Given the description of an element on the screen output the (x, y) to click on. 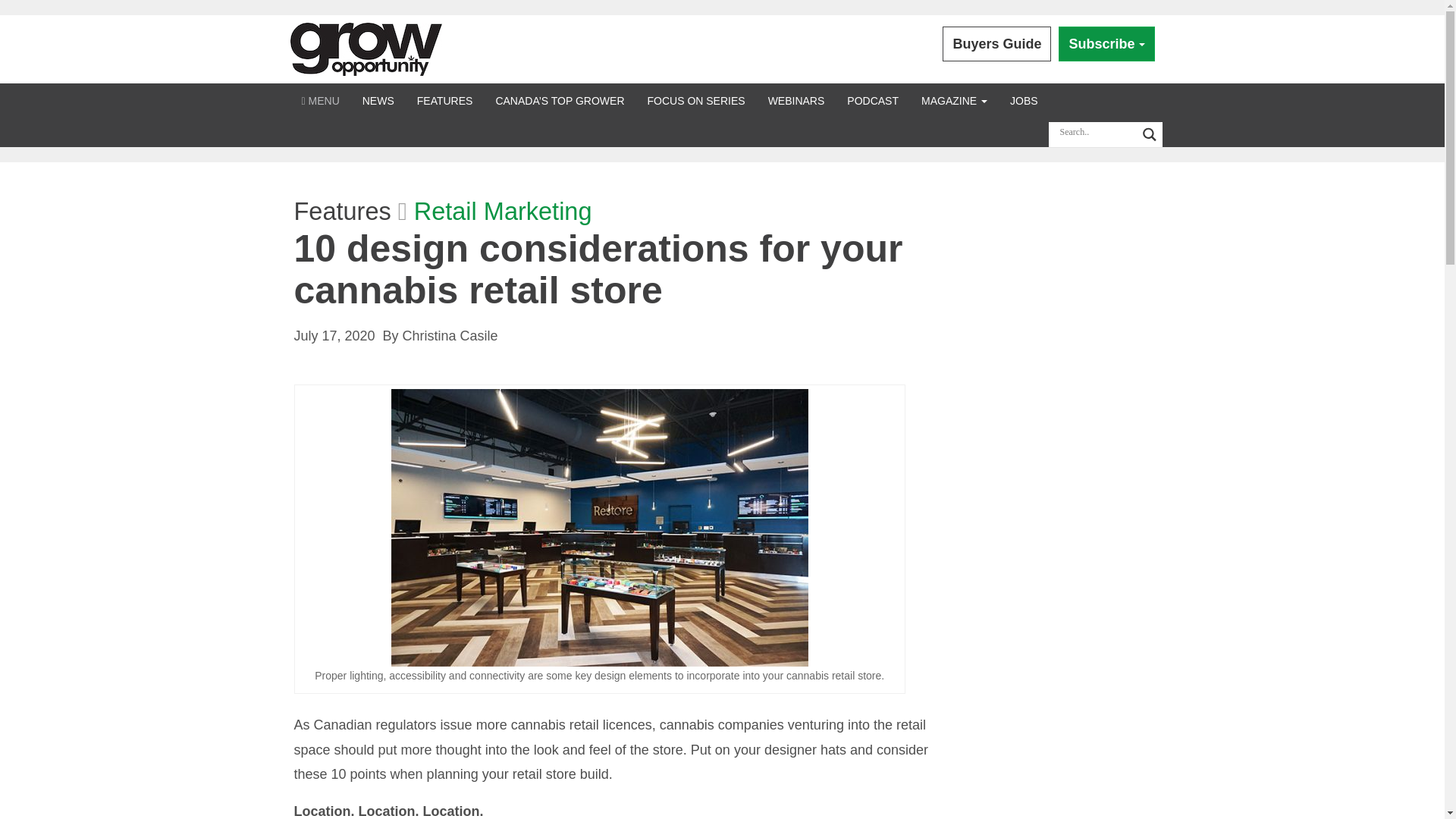
JOBS (1023, 100)
FOCUS ON SERIES (694, 100)
MAGAZINE (954, 100)
Buyers Guide (996, 43)
NEWS (378, 100)
Click to show site navigation (319, 100)
Buyers Guide (996, 43)
MENU (319, 100)
PODCAST (872, 100)
WEBINARS (796, 100)
